Given the description of an element on the screen output the (x, y) to click on. 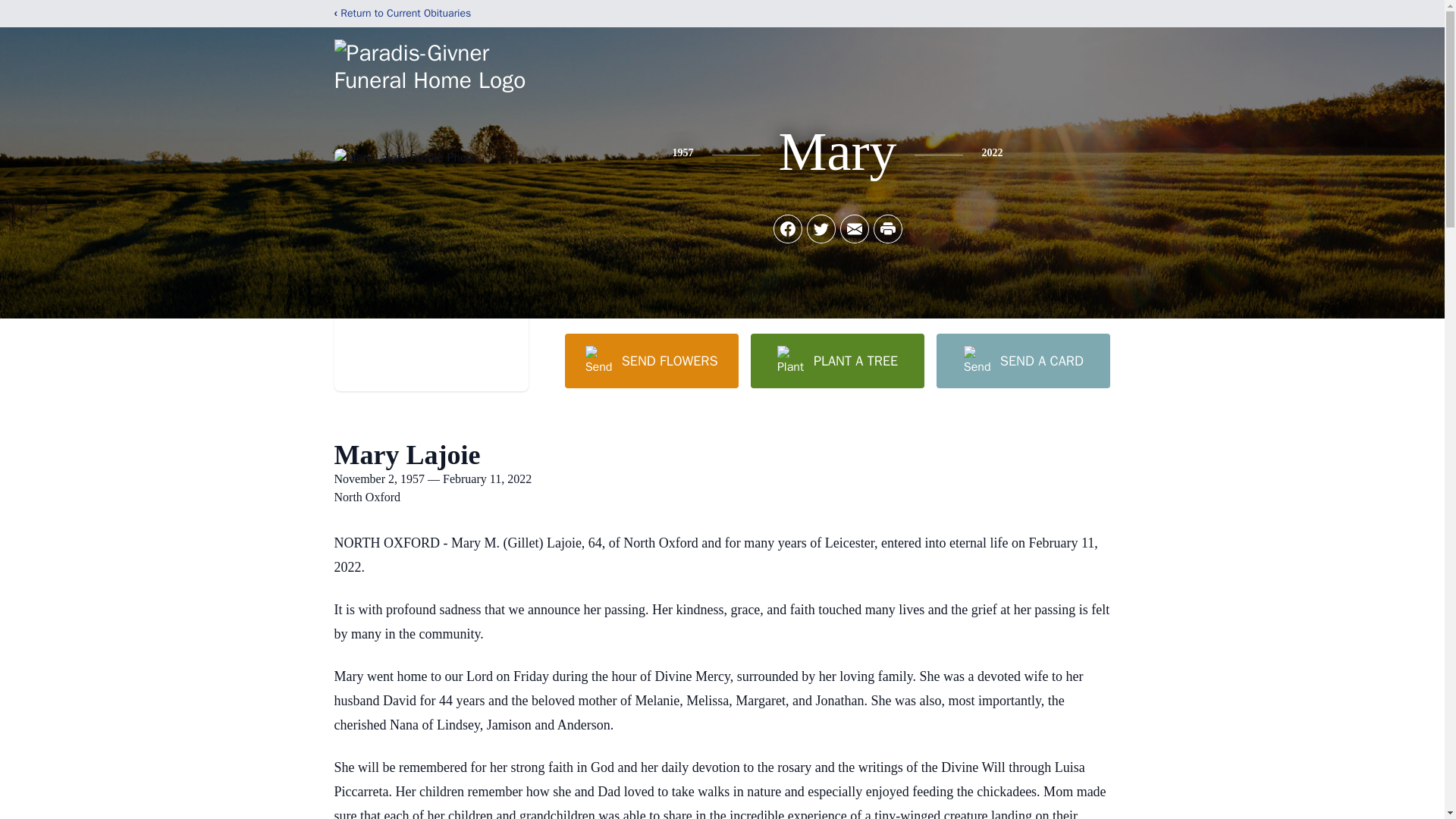
SEND A CARD (1022, 360)
SEND FLOWERS (651, 360)
PLANT A TREE (837, 360)
